Given the description of an element on the screen output the (x, y) to click on. 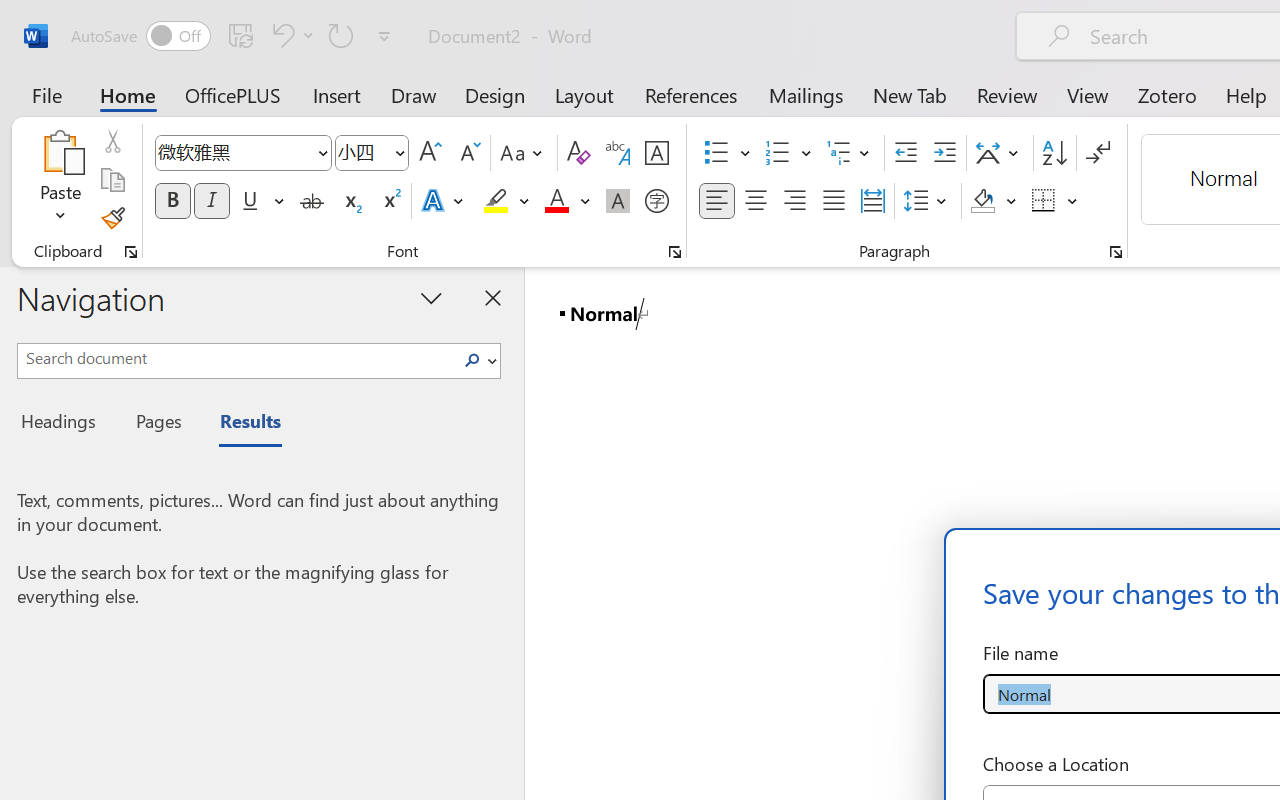
Distributed (872, 201)
Search (478, 360)
References (690, 94)
Zotero (1166, 94)
Customize Quick Access Toolbar (384, 35)
Italic (212, 201)
Subscript (350, 201)
Font Color (567, 201)
Character Border (656, 153)
Superscript (390, 201)
Review (1007, 94)
Paste (60, 151)
Increase Indent (944, 153)
